Given the description of an element on the screen output the (x, y) to click on. 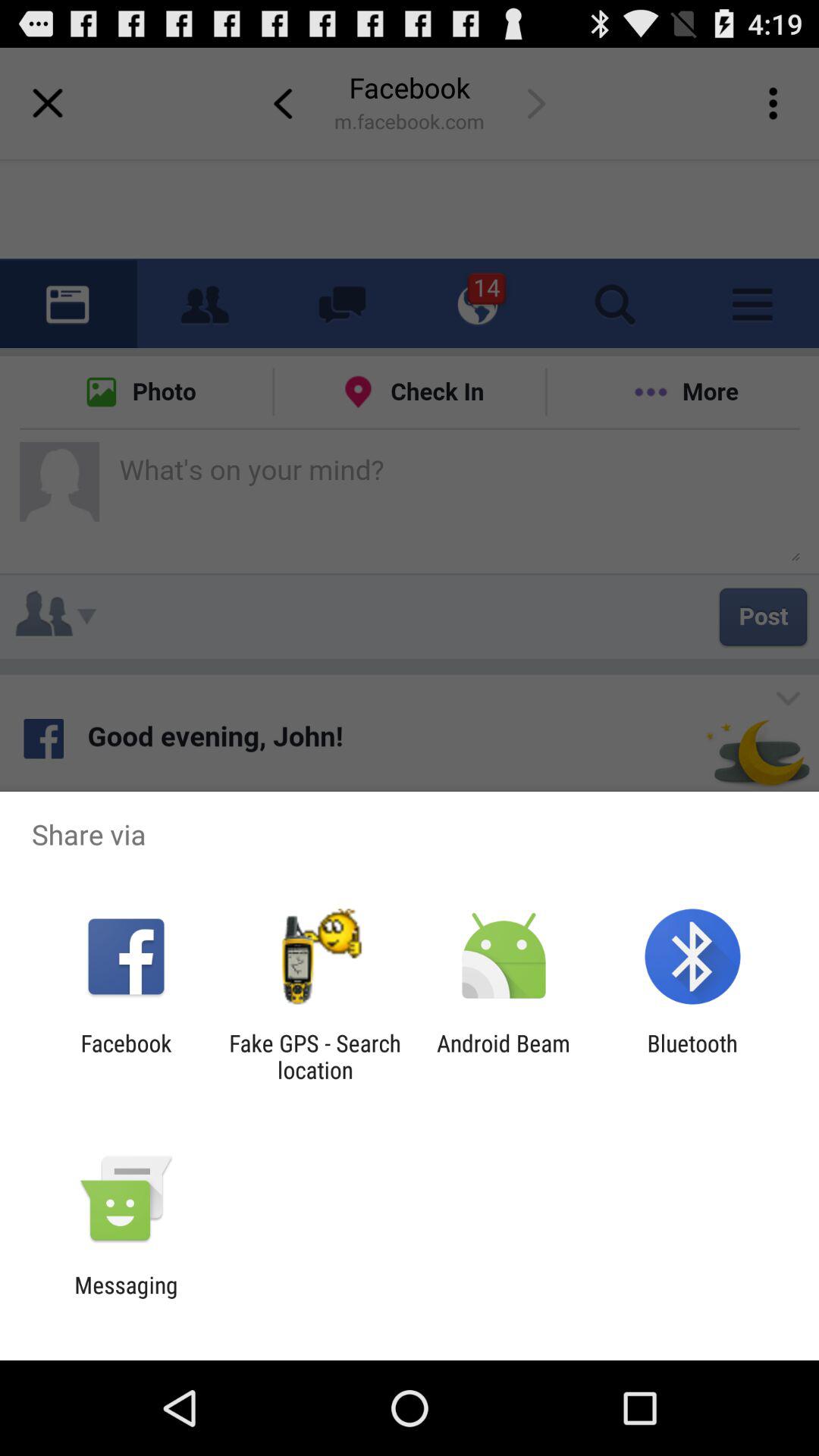
launch messaging app (126, 1298)
